Given the description of an element on the screen output the (x, y) to click on. 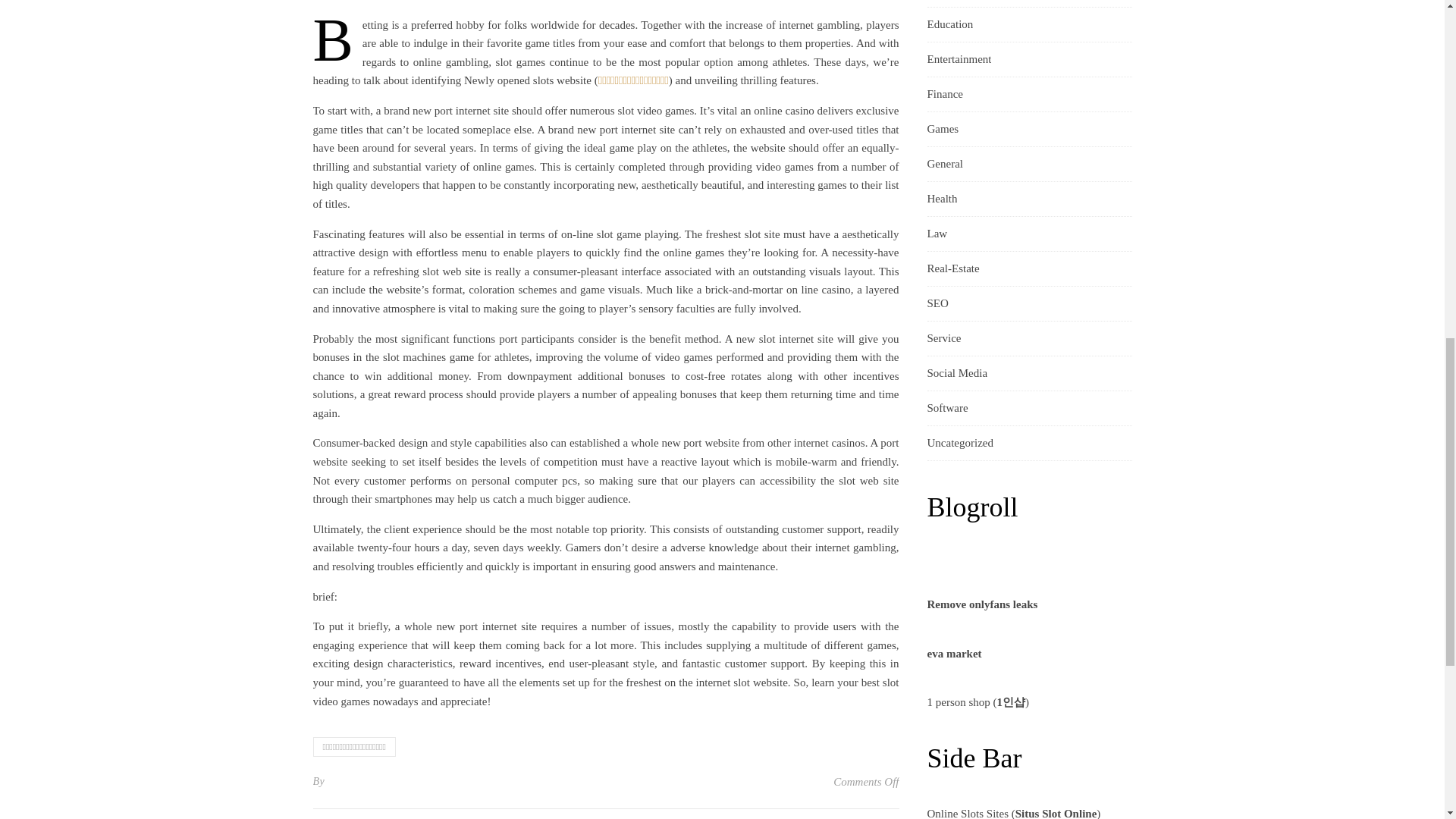
Real-Estate (952, 268)
Service (943, 338)
Remove onlyfans leaks (981, 604)
Finance (944, 93)
Software (947, 408)
Games (942, 129)
Entertainment (958, 59)
Uncategorized (959, 442)
eva market (953, 653)
Education (949, 24)
